Given the description of an element on the screen output the (x, y) to click on. 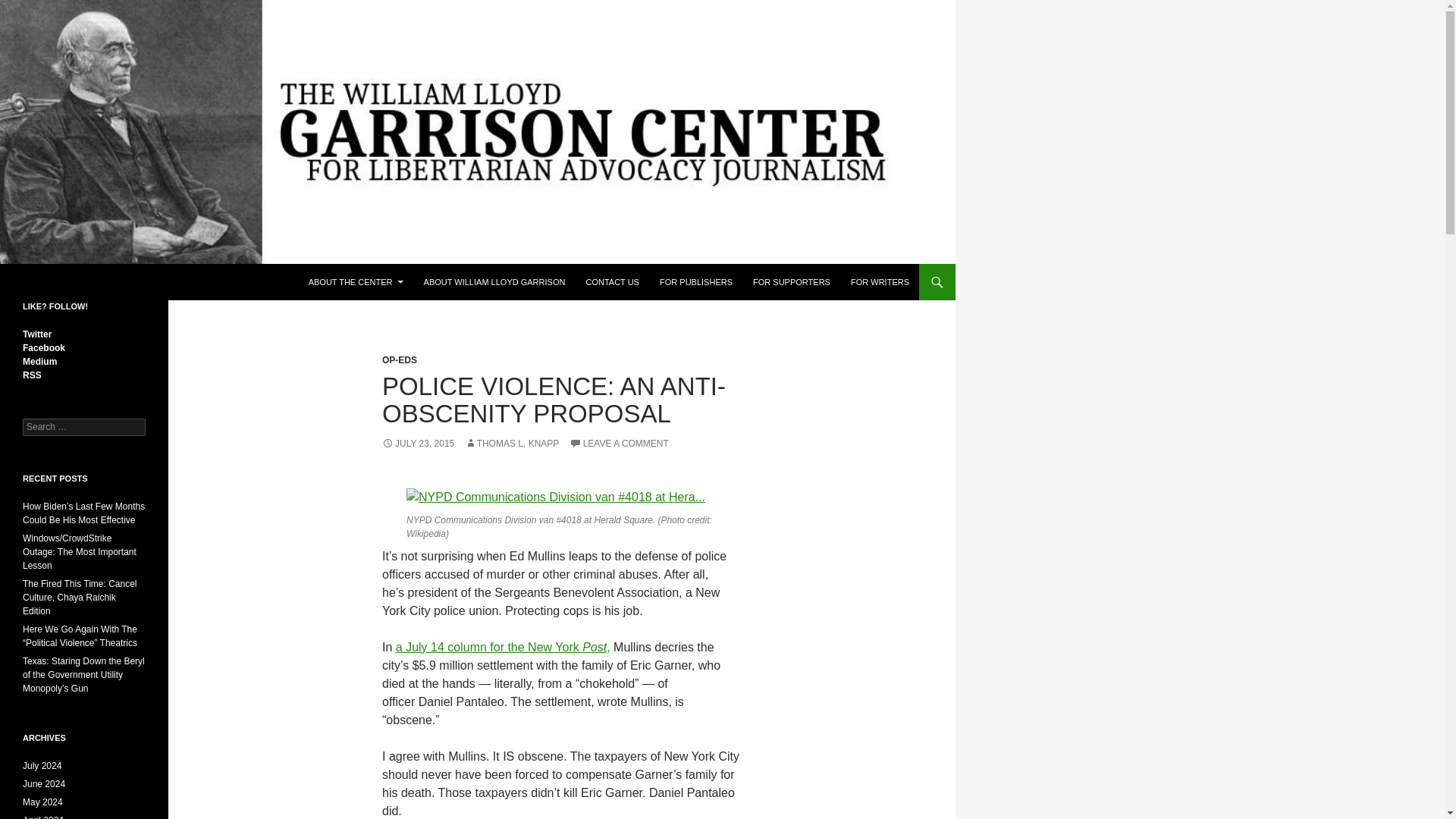
Medium (39, 361)
Facebook (44, 347)
THOMAS L. KNAPP (511, 443)
FOR WRITERS (879, 281)
Twitter (36, 334)
Search (30, 8)
FOR PUBLISHERS (695, 281)
RSS (32, 375)
ABOUT THE CENTER (355, 281)
JULY 23, 2015 (417, 443)
LEAVE A COMMENT (618, 443)
ABOUT WILLIAM LLOYD GARRISON (494, 281)
CONTACT US (611, 281)
a July 14 column for the New York Post, (503, 646)
